Given the description of an element on the screen output the (x, y) to click on. 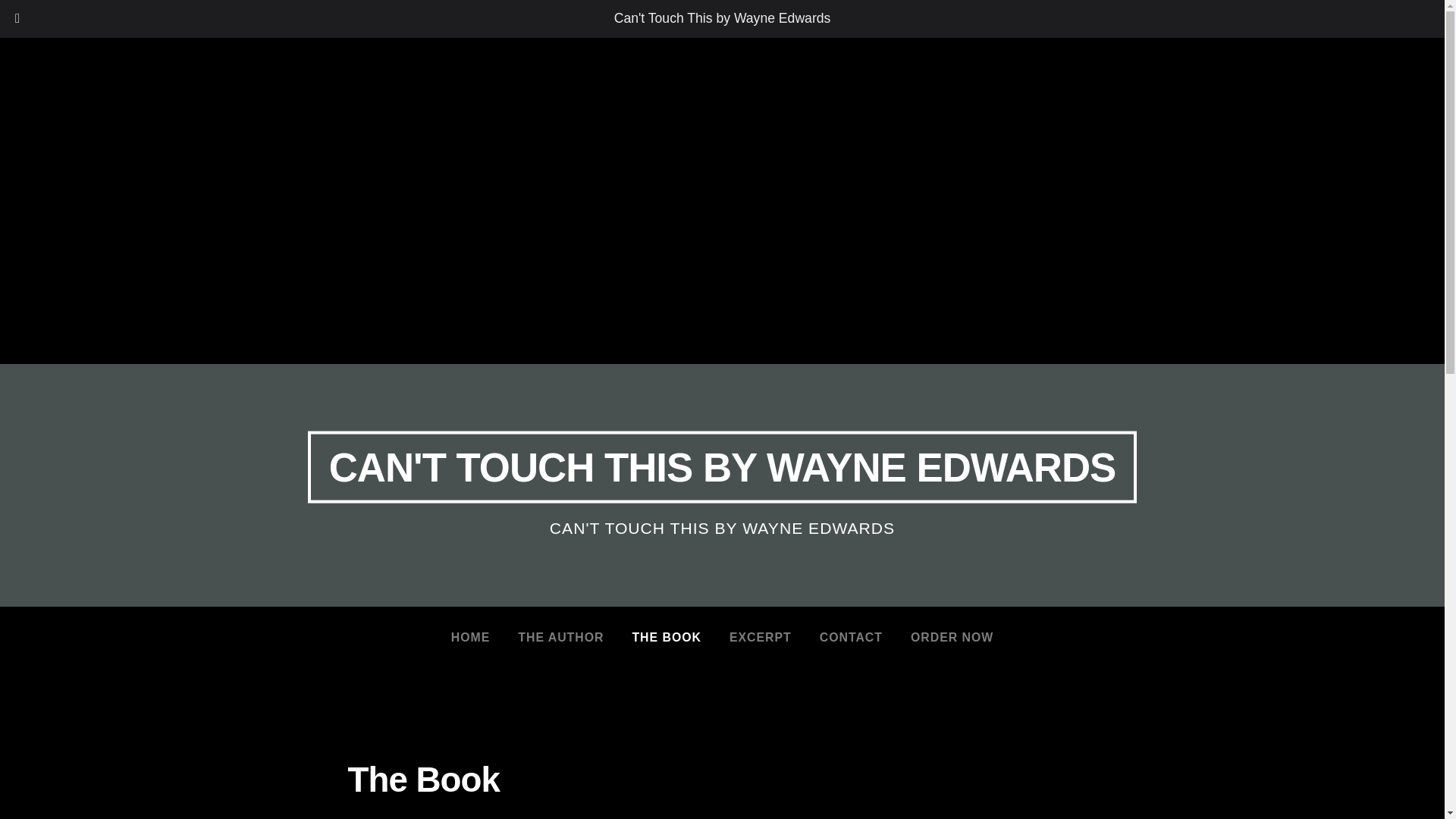
CONTACT (850, 637)
ORDER NOW (951, 637)
THE AUTHOR (560, 637)
Can't Touch This by Wayne Edwards (722, 17)
THE BOOK (665, 637)
CAN'T TOUCH THIS BY WAYNE EDWARDS (722, 467)
HOME (470, 637)
EXCERPT (759, 637)
